Given the description of an element on the screen output the (x, y) to click on. 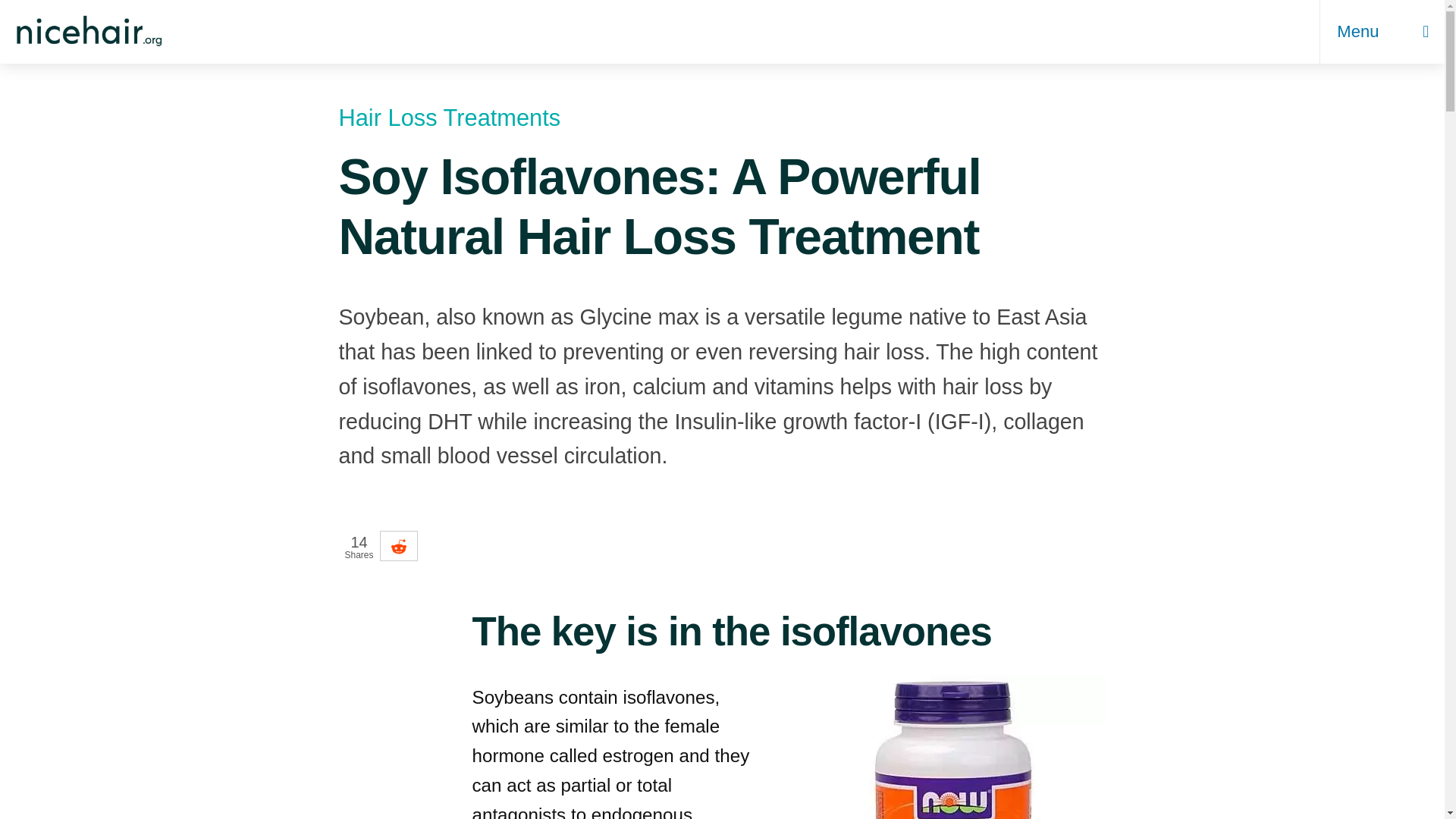
Hair Loss Treatments (721, 117)
Menu (1373, 31)
